Given the description of an element on the screen output the (x, y) to click on. 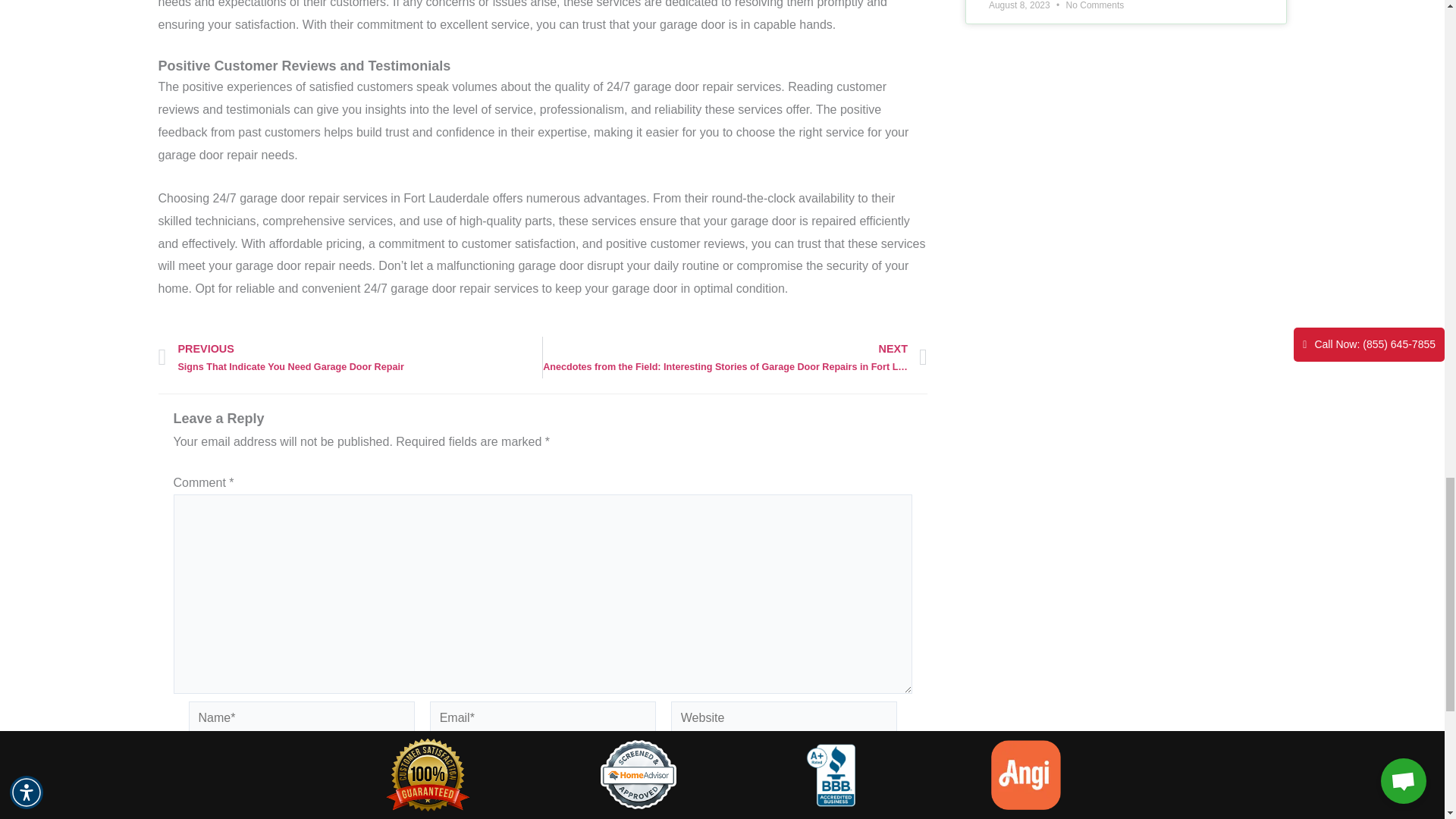
Post Comment (224, 813)
yes (178, 773)
